Given the description of an element on the screen output the (x, y) to click on. 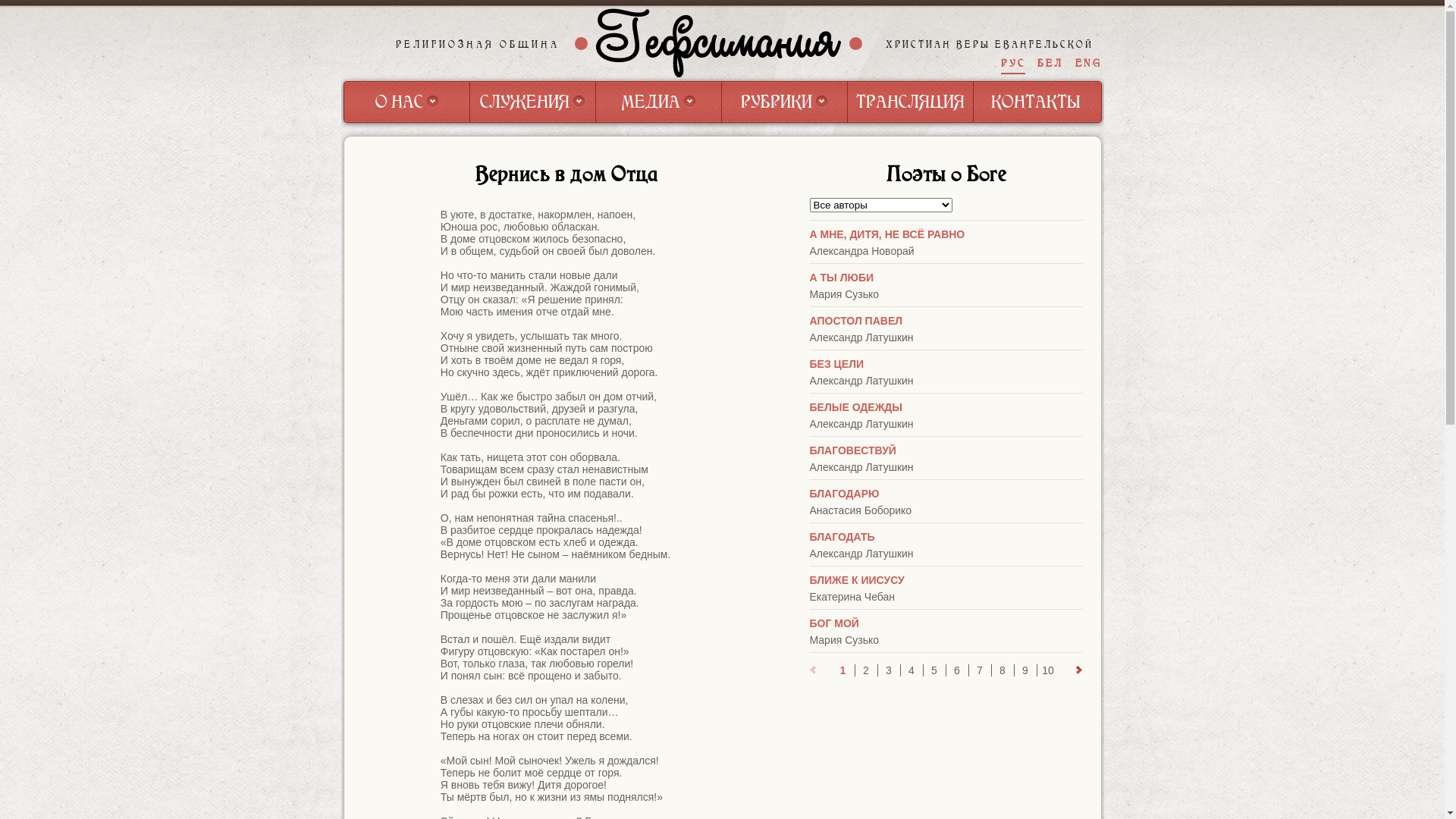
ENG Element type: text (1088, 62)
